Given the description of an element on the screen output the (x, y) to click on. 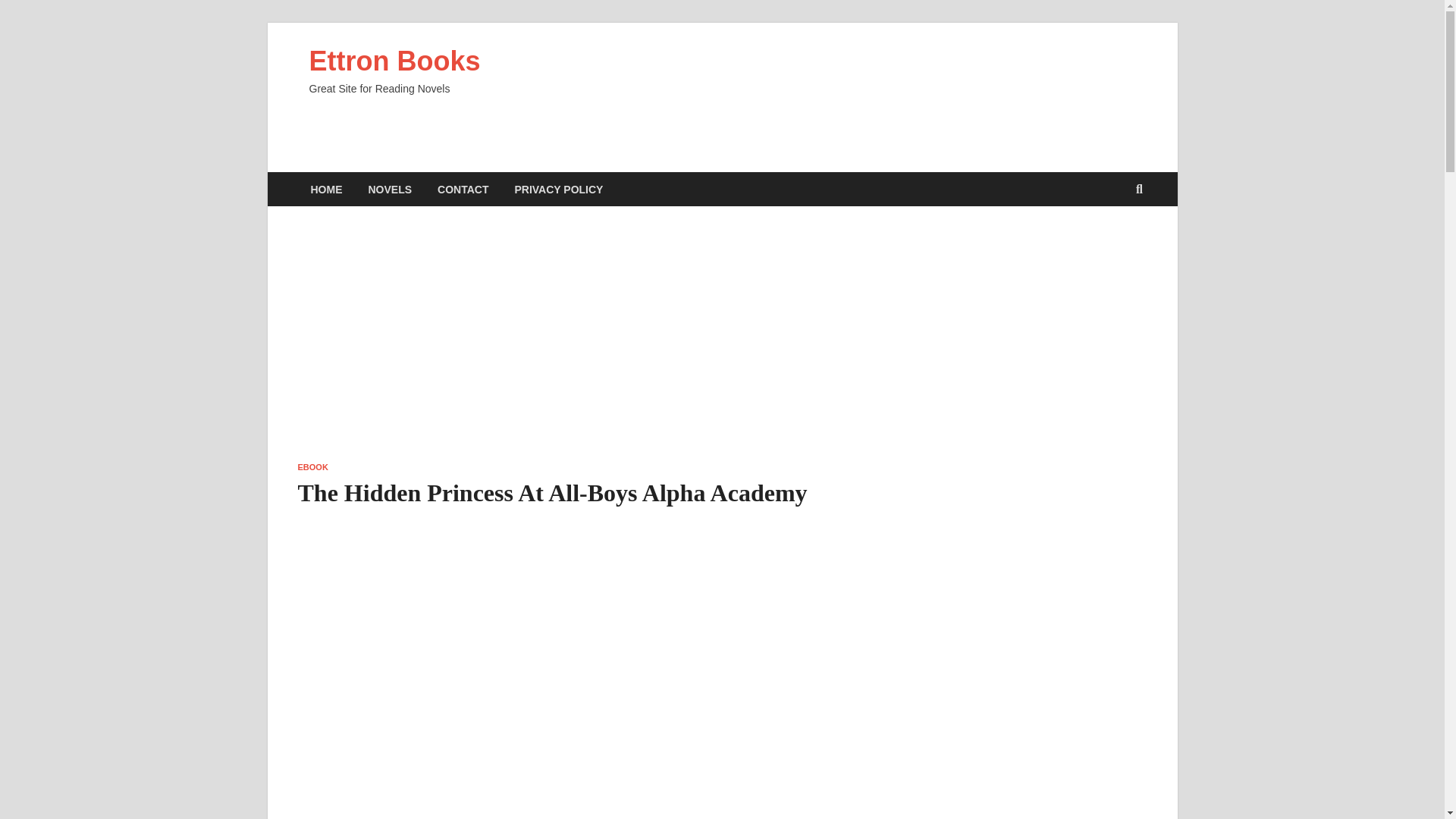
EBOOK (312, 466)
Advertisement (843, 94)
PRIVACY POLICY (557, 188)
HOME (326, 188)
Advertisement (575, 348)
Ettron Books (394, 60)
NOVELS (390, 188)
CONTACT (462, 188)
Advertisement (1016, 342)
